Given the description of an element on the screen output the (x, y) to click on. 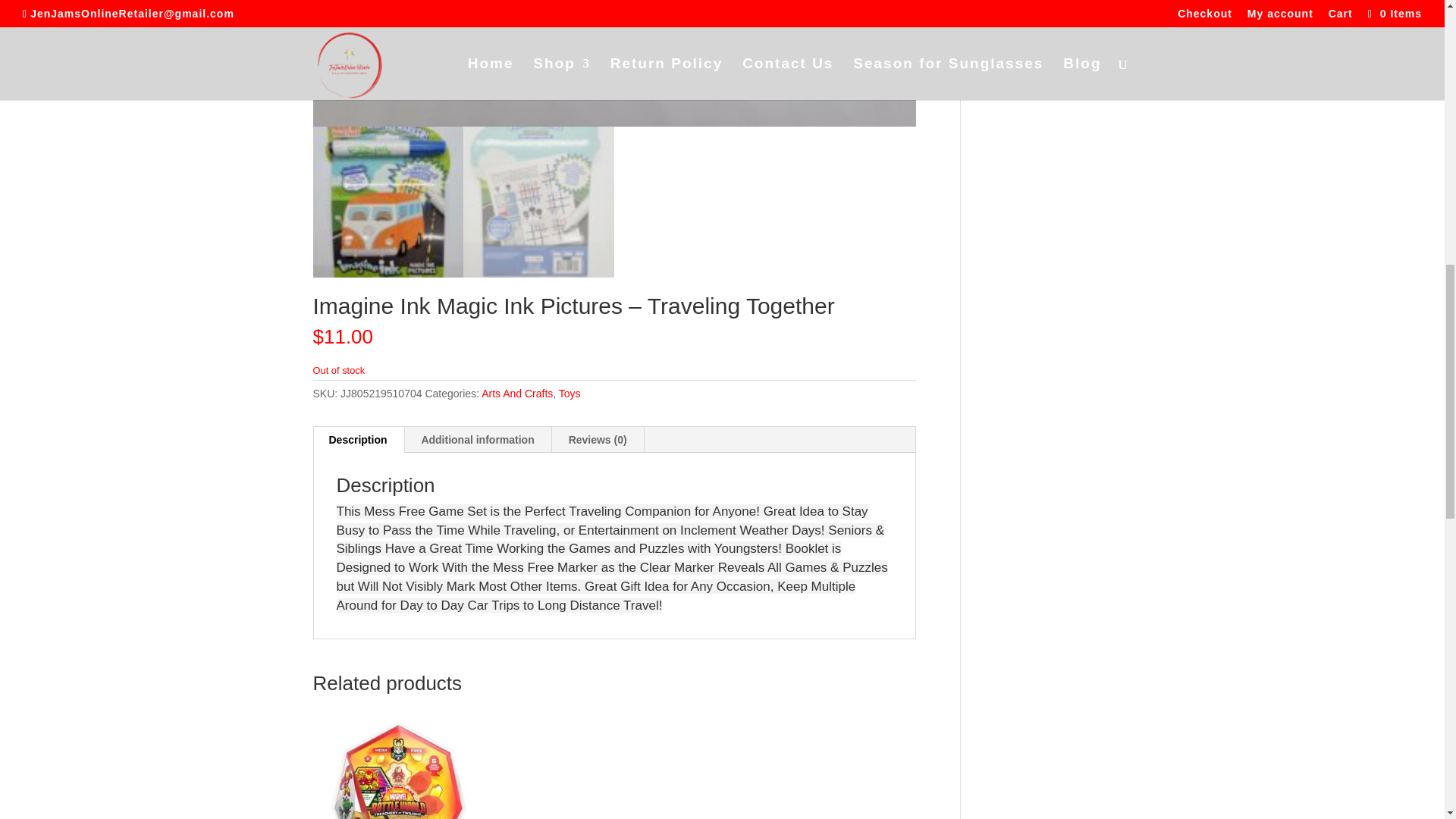
open-uri20221205-3319969-1e1ne11.jpg (614, 63)
